Given the description of an element on the screen output the (x, y) to click on. 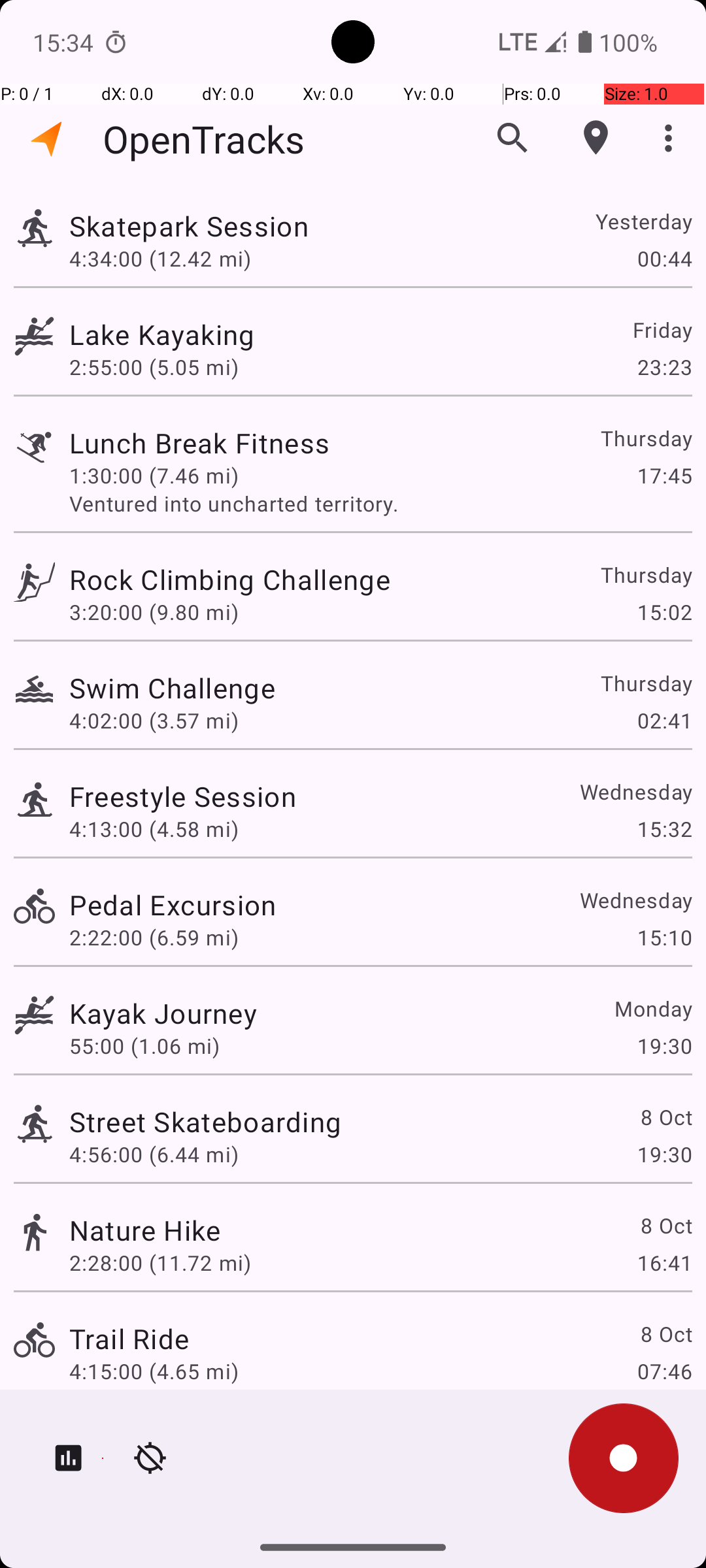
Skatepark Session Element type: android.widget.TextView (188, 225)
4:34:00 (12.42 mi) Element type: android.widget.TextView (159, 258)
00:44 Element type: android.widget.TextView (664, 258)
Lake Kayaking Element type: android.widget.TextView (161, 333)
2:55:00 (5.05 mi) Element type: android.widget.TextView (153, 366)
23:23 Element type: android.widget.TextView (664, 366)
Lunch Break Fitness Element type: android.widget.TextView (199, 442)
1:30:00 (7.46 mi) Element type: android.widget.TextView (153, 475)
17:45 Element type: android.widget.TextView (664, 475)
Ventured into uncharted territory. Element type: android.widget.TextView (380, 503)
Rock Climbing Challenge Element type: android.widget.TextView (229, 578)
3:20:00 (9.80 mi) Element type: android.widget.TextView (153, 611)
15:02 Element type: android.widget.TextView (664, 611)
Swim Challenge Element type: android.widget.TextView (171, 687)
4:02:00 (3.57 mi) Element type: android.widget.TextView (153, 720)
02:41 Element type: android.widget.TextView (664, 720)
Freestyle Session Element type: android.widget.TextView (182, 795)
4:13:00 (4.58 mi) Element type: android.widget.TextView (153, 828)
15:32 Element type: android.widget.TextView (664, 828)
Pedal Excursion Element type: android.widget.TextView (172, 904)
2:22:00 (6.59 mi) Element type: android.widget.TextView (153, 937)
15:10 Element type: android.widget.TextView (664, 937)
Kayak Journey Element type: android.widget.TextView (162, 1012)
55:00 (1.06 mi) Element type: android.widget.TextView (144, 1045)
19:30 Element type: android.widget.TextView (664, 1045)
Street Skateboarding Element type: android.widget.TextView (204, 1121)
4:56:00 (6.44 mi) Element type: android.widget.TextView (153, 1154)
Nature Hike Element type: android.widget.TextView (144, 1229)
2:28:00 (11.72 mi) Element type: android.widget.TextView (159, 1262)
16:41 Element type: android.widget.TextView (664, 1262)
Trail Ride Element type: android.widget.TextView (128, 1337)
4:15:00 (4.65 mi) Element type: android.widget.TextView (153, 1370)
07:46 Element type: android.widget.TextView (664, 1370)
